Given the description of an element on the screen output the (x, y) to click on. 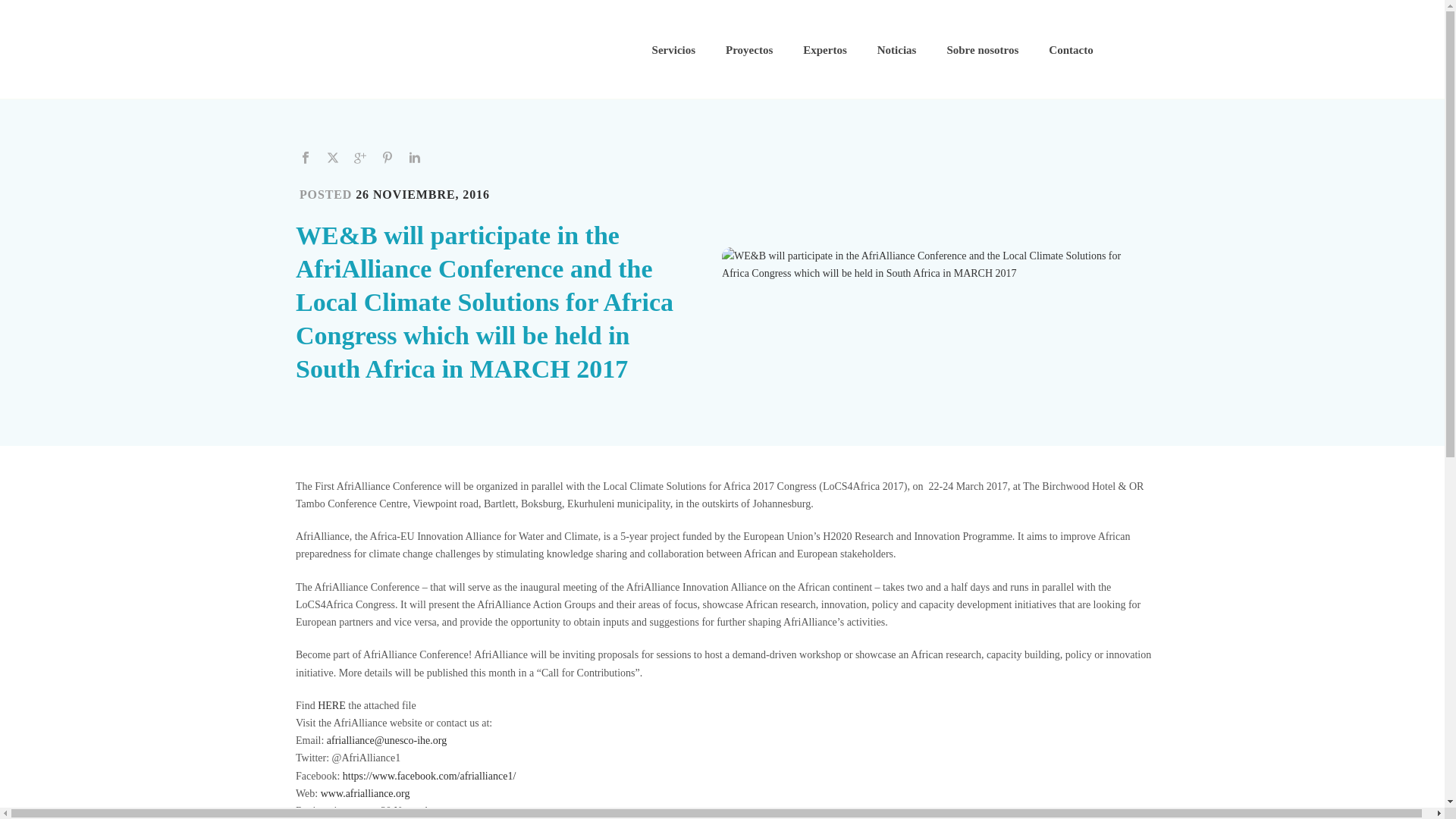
Noticias (896, 49)
Servicios (674, 49)
Local Impact, Global Change (412, 49)
Contacto (1070, 49)
Expertos (824, 49)
Servicios (674, 49)
Noticias (896, 49)
Sobre nosotros (982, 49)
26 NOVIEMBRE, 2016 (422, 194)
